Given the description of an element on the screen output the (x, y) to click on. 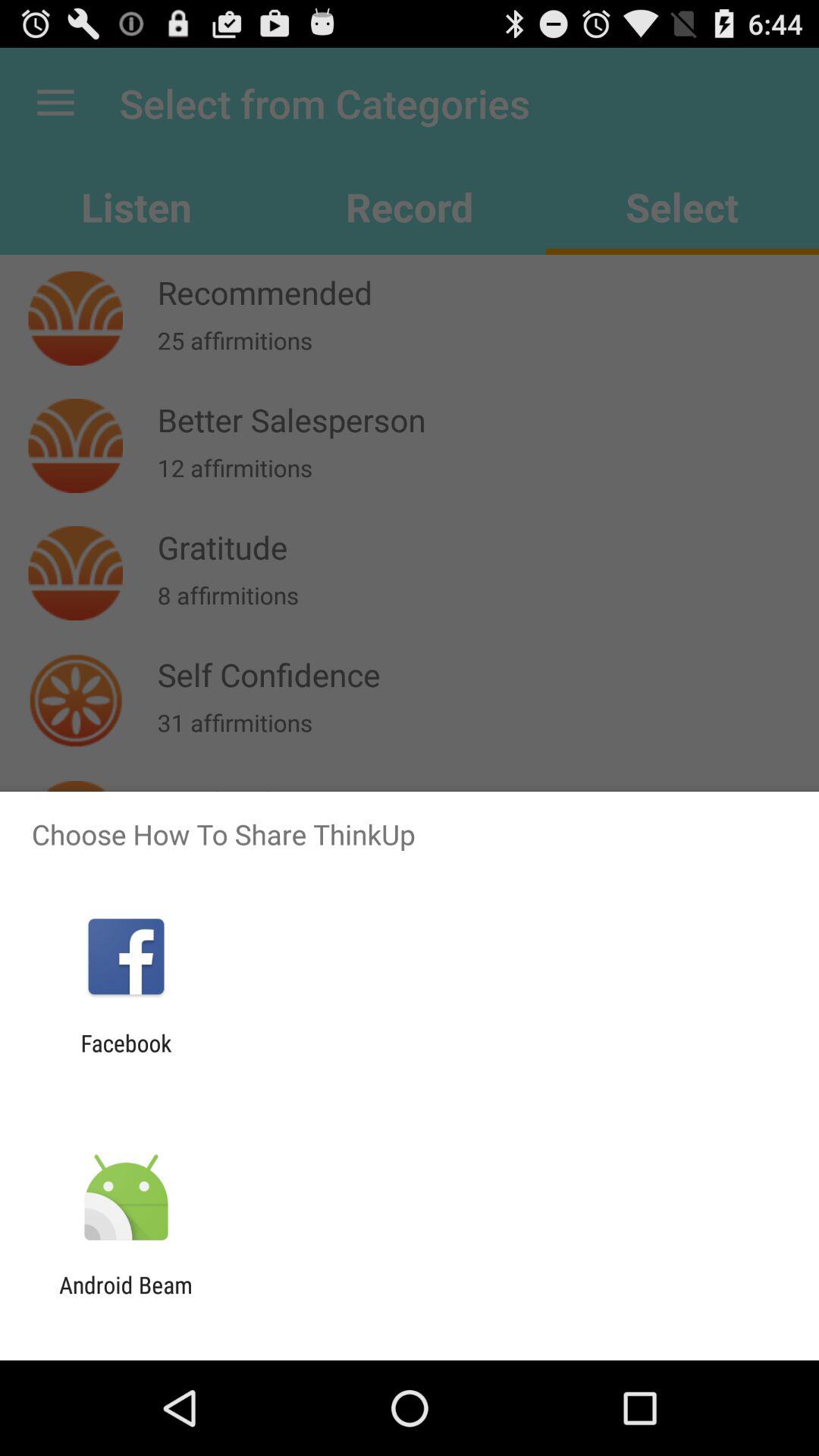
flip to facebook app (125, 1056)
